Given the description of an element on the screen output the (x, y) to click on. 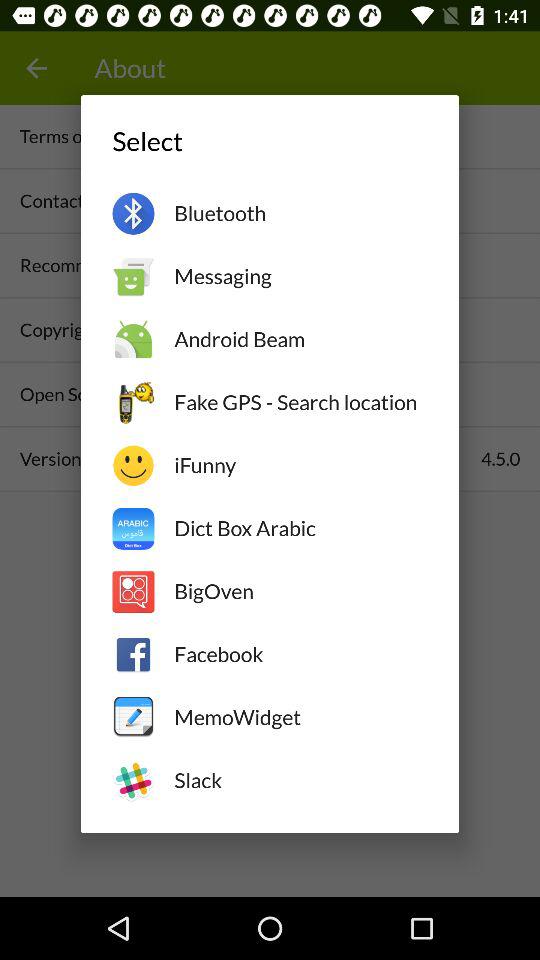
scroll until the bluetooth (300, 213)
